Given the description of an element on the screen output the (x, y) to click on. 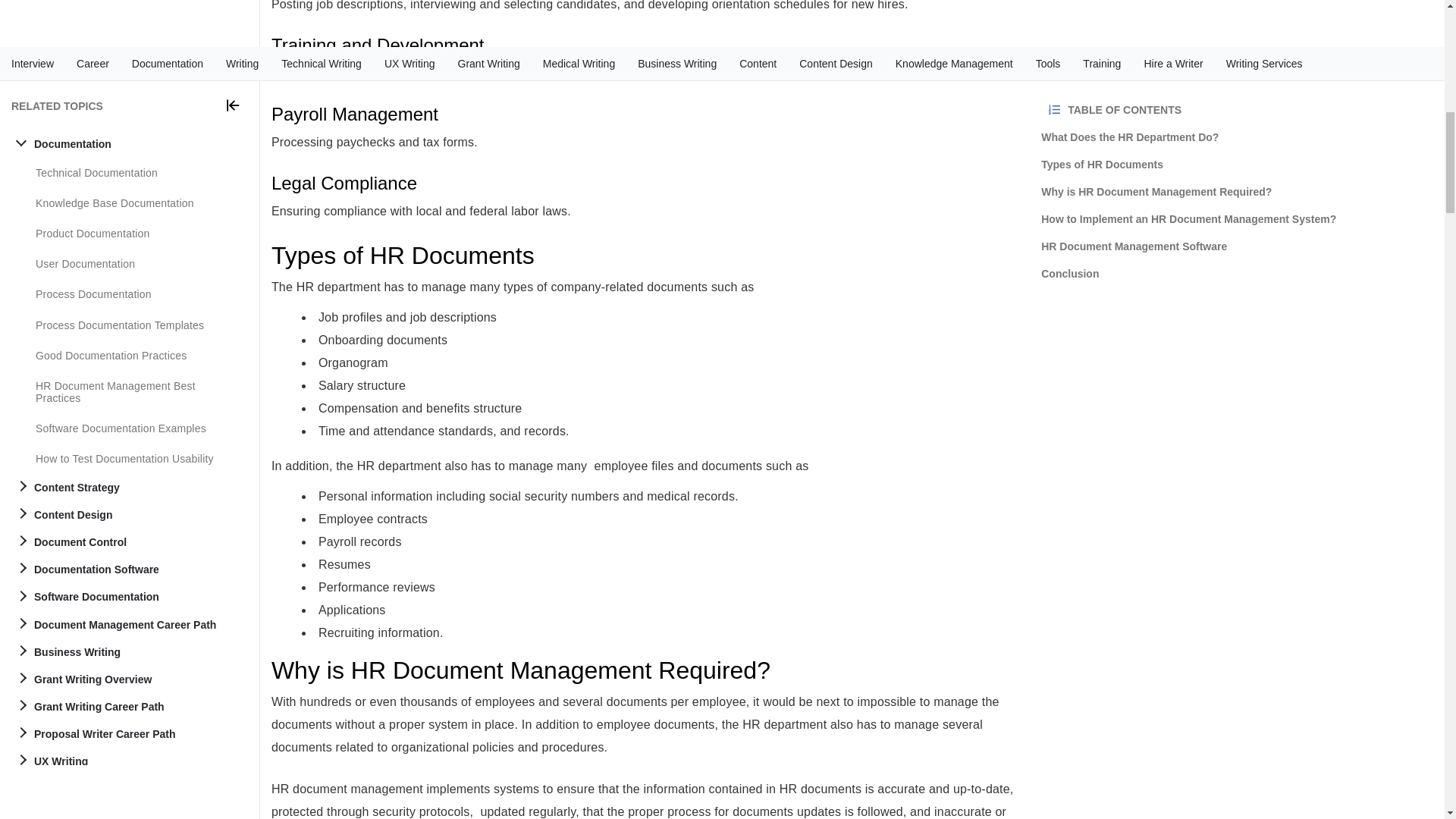
Training and Development (643, 45)
Why is HR Document Management Required? (643, 670)
Payroll Management (643, 114)
Types of HR Documents (643, 255)
Legal Compliance (643, 183)
